Given the description of an element on the screen output the (x, y) to click on. 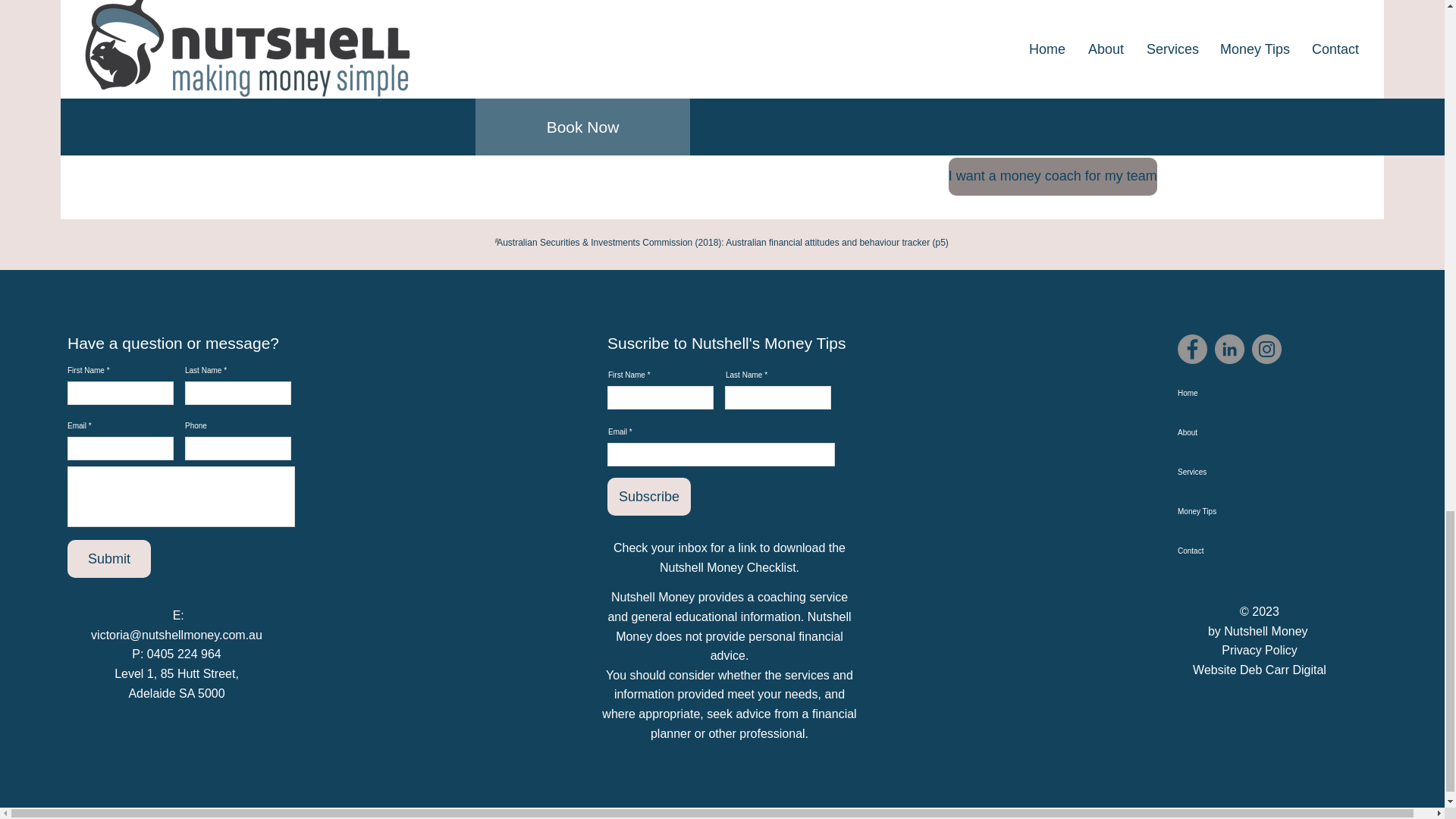
Privacy Policy (1259, 649)
Home (1236, 393)
About (1236, 432)
Submit (108, 558)
Contact (1236, 550)
I want a money coach for my team (1053, 176)
Money Tips (1236, 511)
Subscribe (648, 496)
Deb Carr Digital (1283, 669)
